Given the description of an element on the screen output the (x, y) to click on. 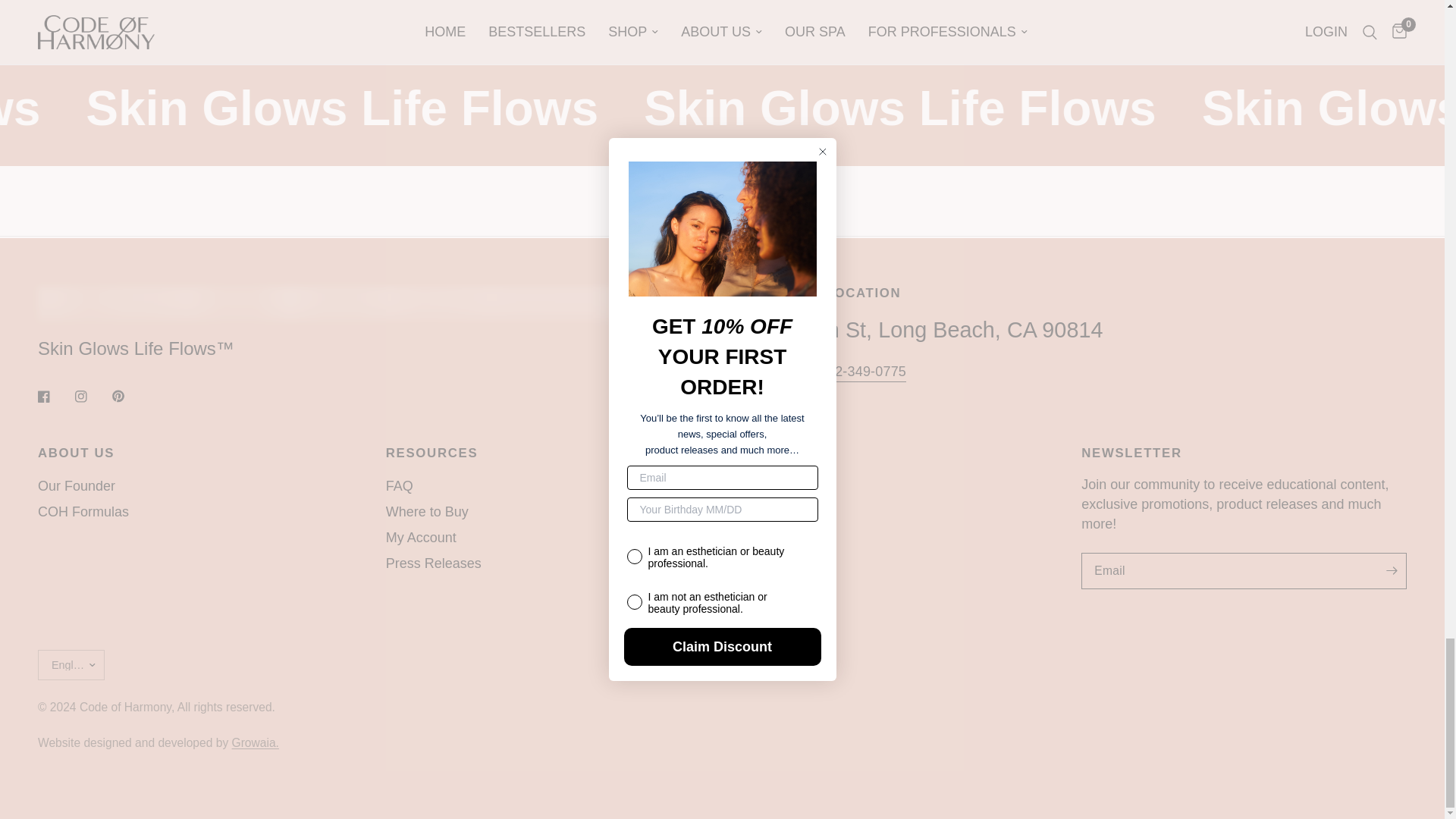
Skin Glows Life Flows (26, 108)
Skin Glows Life Flows (884, 108)
Skin Glows Life Flows (328, 108)
